Given the description of an element on the screen output the (x, y) to click on. 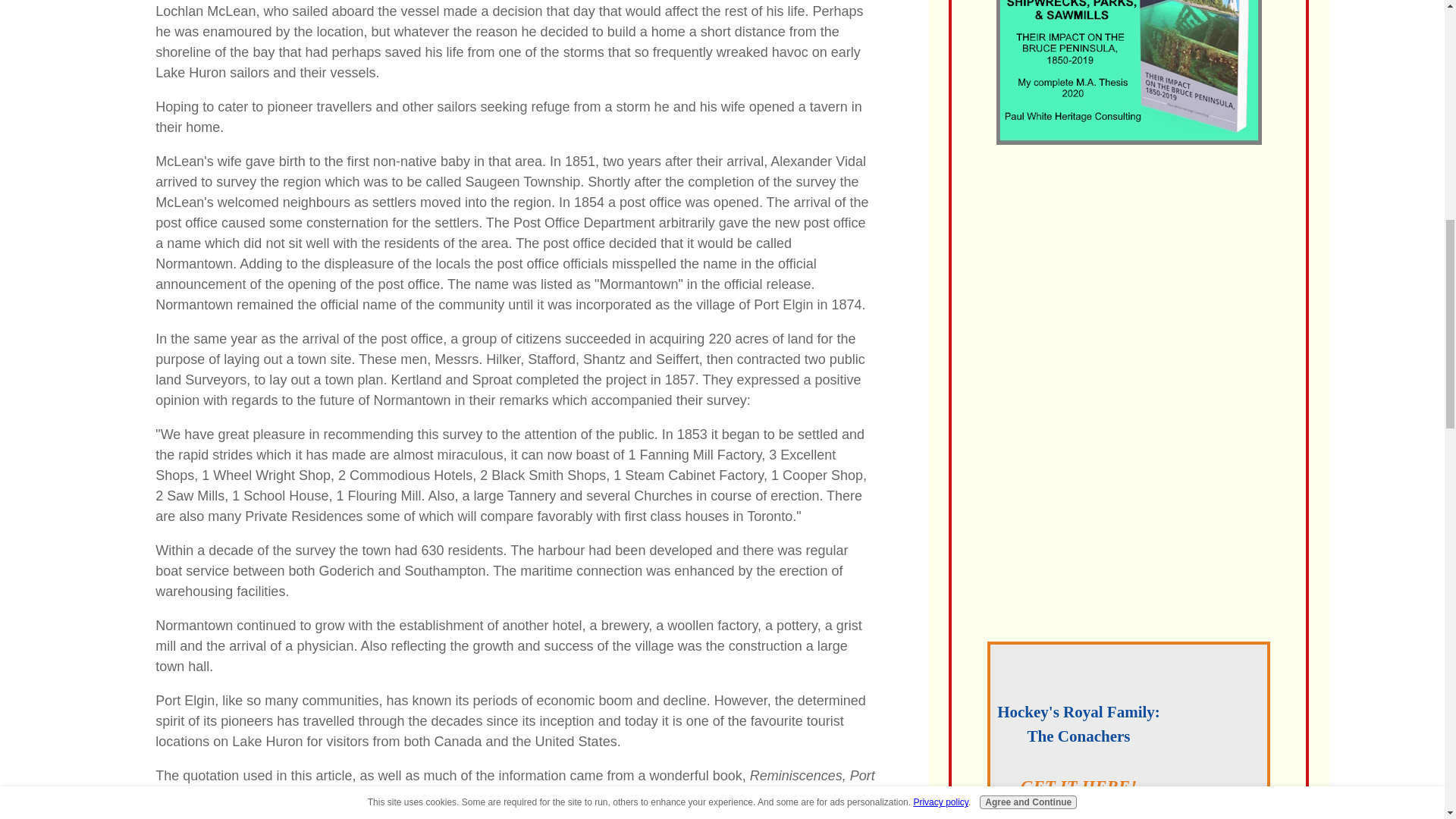
Journey Through Owen Sounds Hockey History (1128, 513)
Go to Shipwrecks, Parks, and Sawmills (1128, 140)
thesis book right column (1128, 72)
Go to Journey The Bruce Peninsula Past And Present (1128, 379)
bp-right-column (1128, 273)
Go to Journey Through Owen Sounds Hockey History (1128, 619)
